Given the description of an element on the screen output the (x, y) to click on. 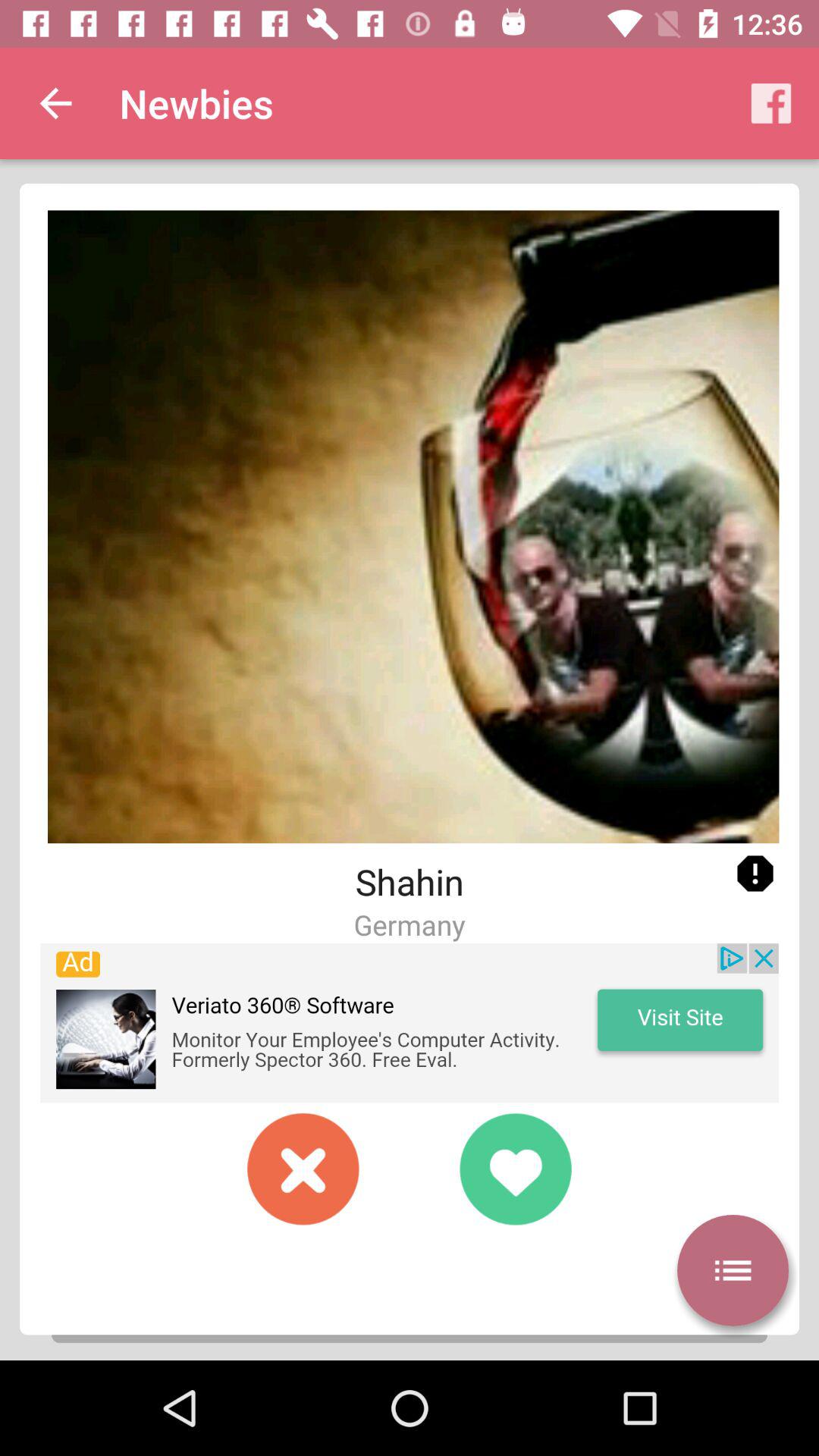
close switch (303, 1169)
